Given the description of an element on the screen output the (x, y) to click on. 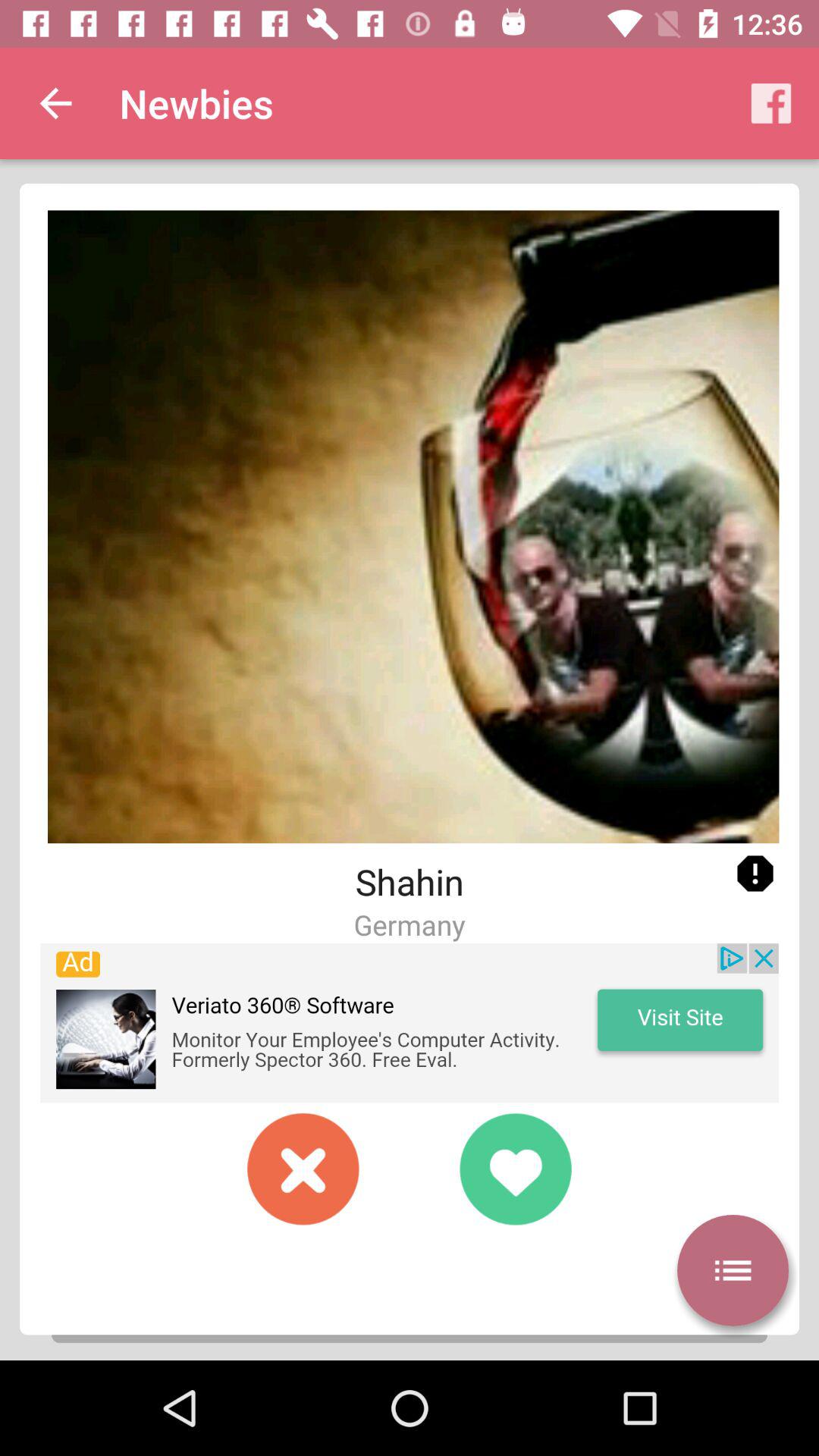
close switch (303, 1169)
